Given the description of an element on the screen output the (x, y) to click on. 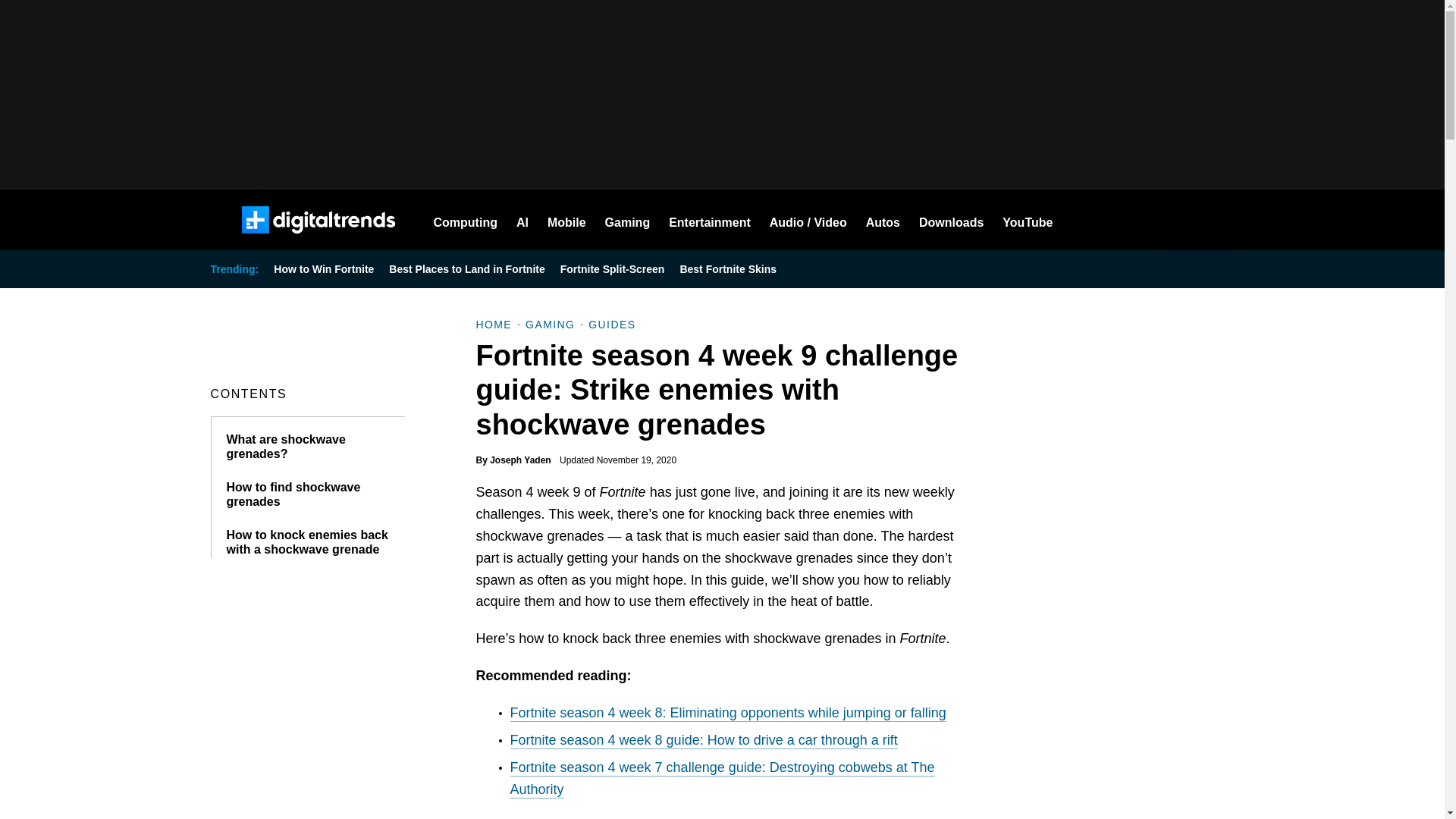
Entertainment (709, 219)
Downloads (951, 219)
Computing (465, 219)
